Given the description of an element on the screen output the (x, y) to click on. 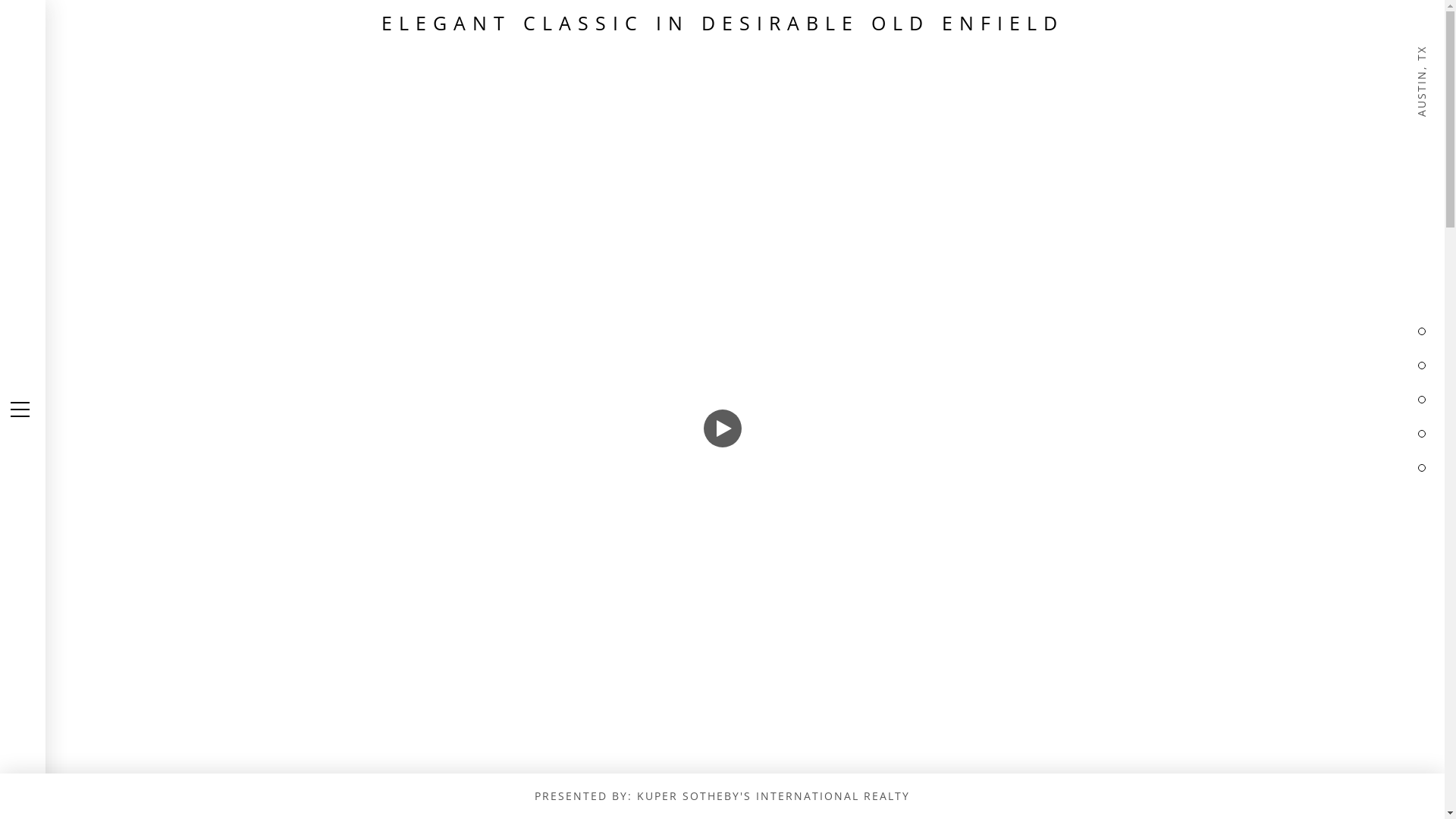
Listing Video Element type: hover (722, 409)
